Given the description of an element on the screen output the (x, y) to click on. 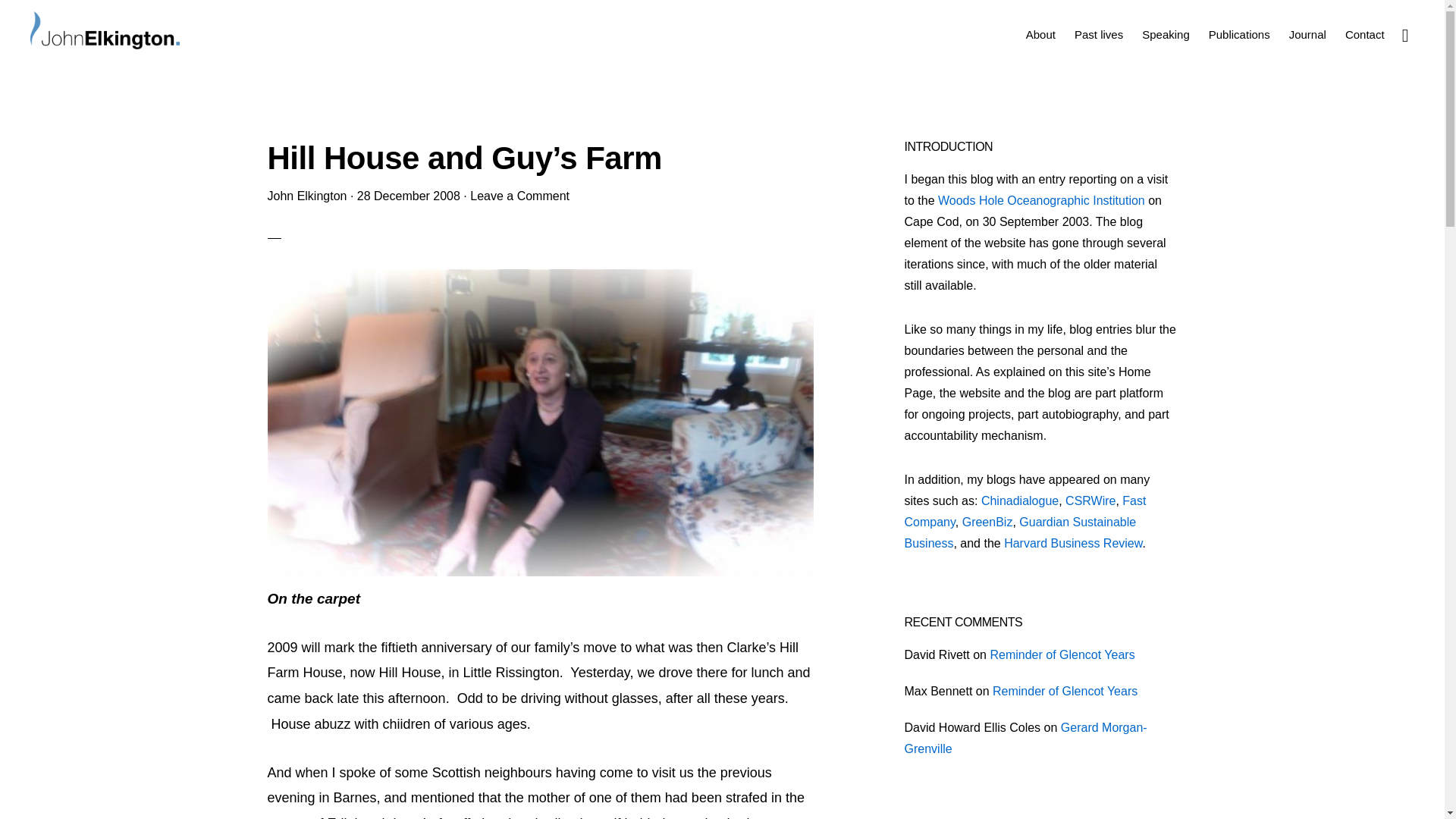
Speaking (1165, 34)
On the carpet (539, 571)
Contact (1364, 34)
Journal (1307, 34)
About (1039, 34)
Publications (1239, 34)
Past lives (1099, 34)
